Given the description of an element on the screen output the (x, y) to click on. 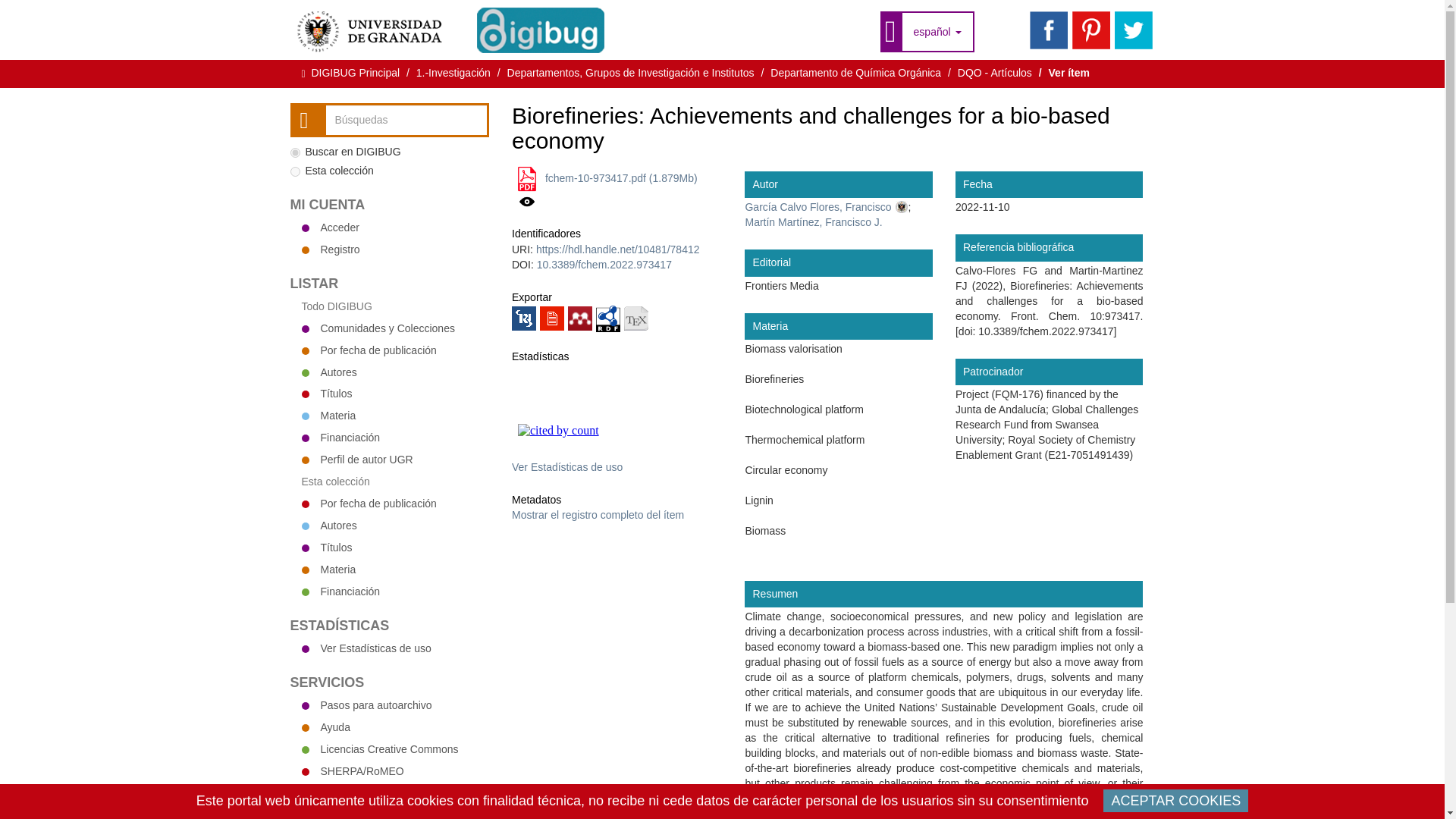
RDF (607, 317)
Scopus (625, 451)
Twitter (1134, 30)
Ir (306, 120)
Almetrics (536, 409)
RIS (523, 318)
Mendeley (579, 318)
ACEPTAR COOKIES (1175, 800)
Refworks (552, 318)
Bibtex (635, 318)
Pinterest (1090, 30)
Autoridad Universidad de Granada (825, 206)
DIGIBUG Principal (354, 72)
pdf (526, 178)
Facebook (1048, 30)
